Given the description of an element on the screen output the (x, y) to click on. 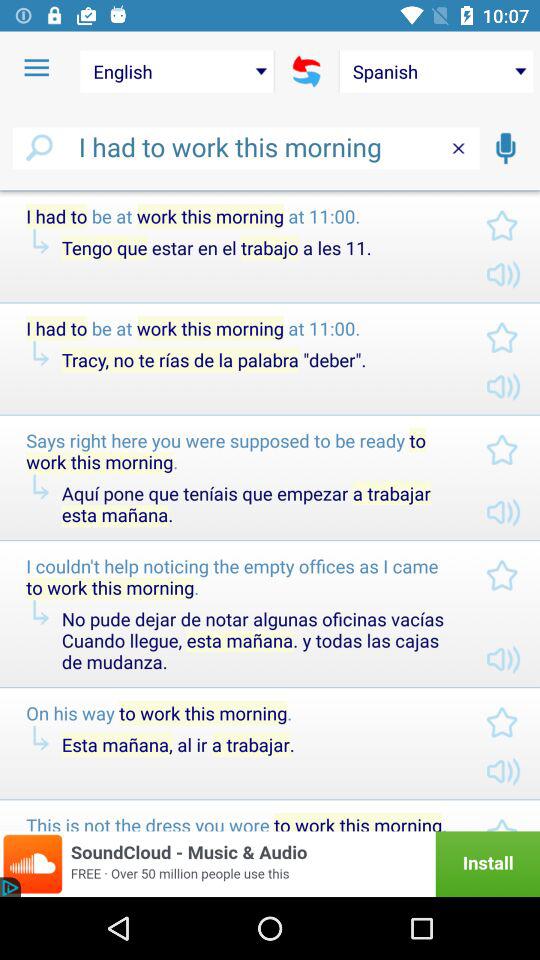
tap the icon above i had to item (176, 71)
